Given the description of an element on the screen output the (x, y) to click on. 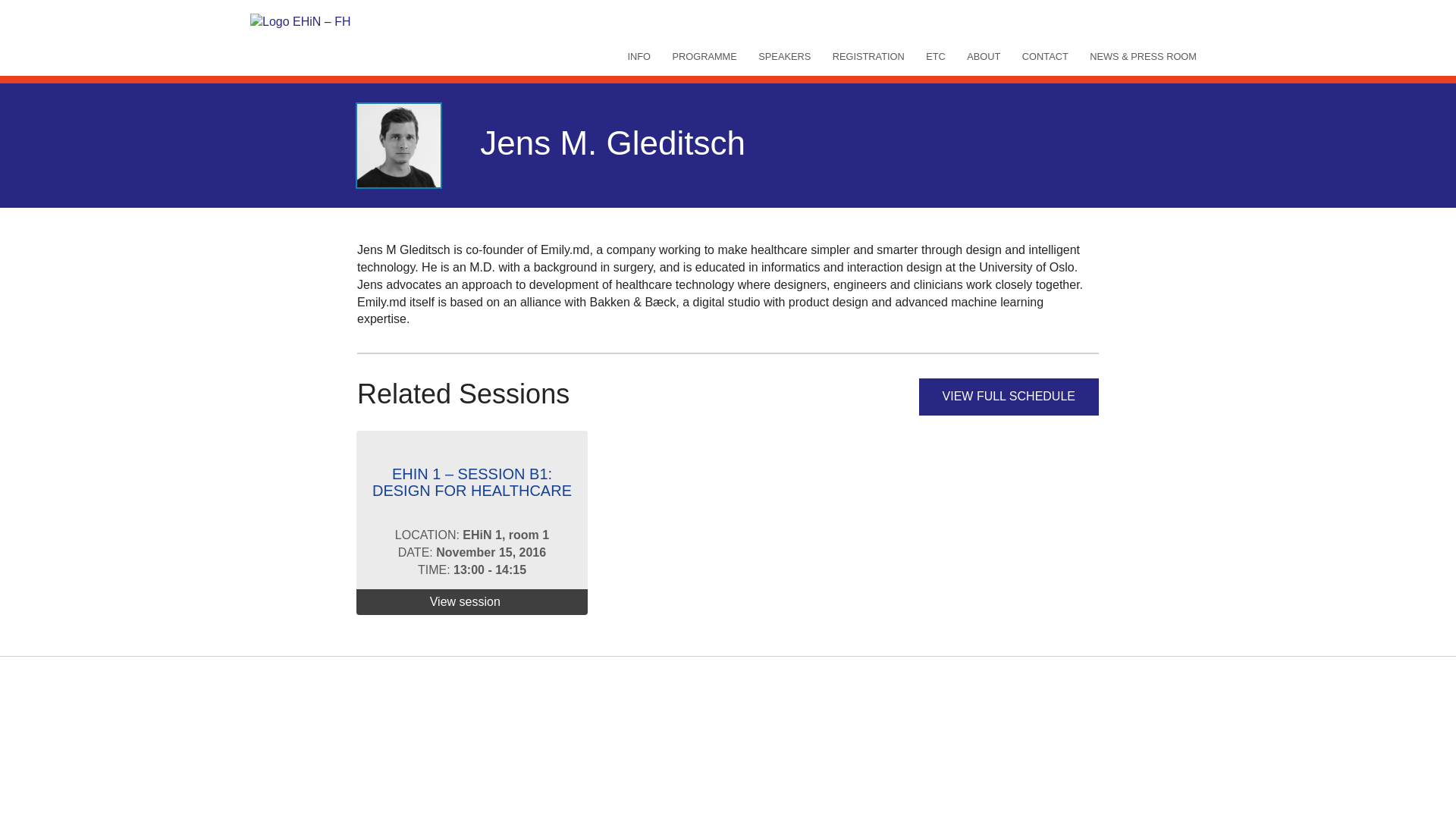
INFO (638, 58)
REGISTRATION (869, 58)
VIEW FULL SCHEDULE (1008, 396)
CONTACT (1045, 58)
ABOUT (983, 58)
PROGRAMME (703, 58)
ETC (936, 58)
SPEAKERS (784, 58)
Jens M. Gleditsch (398, 145)
